Given the description of an element on the screen output the (x, y) to click on. 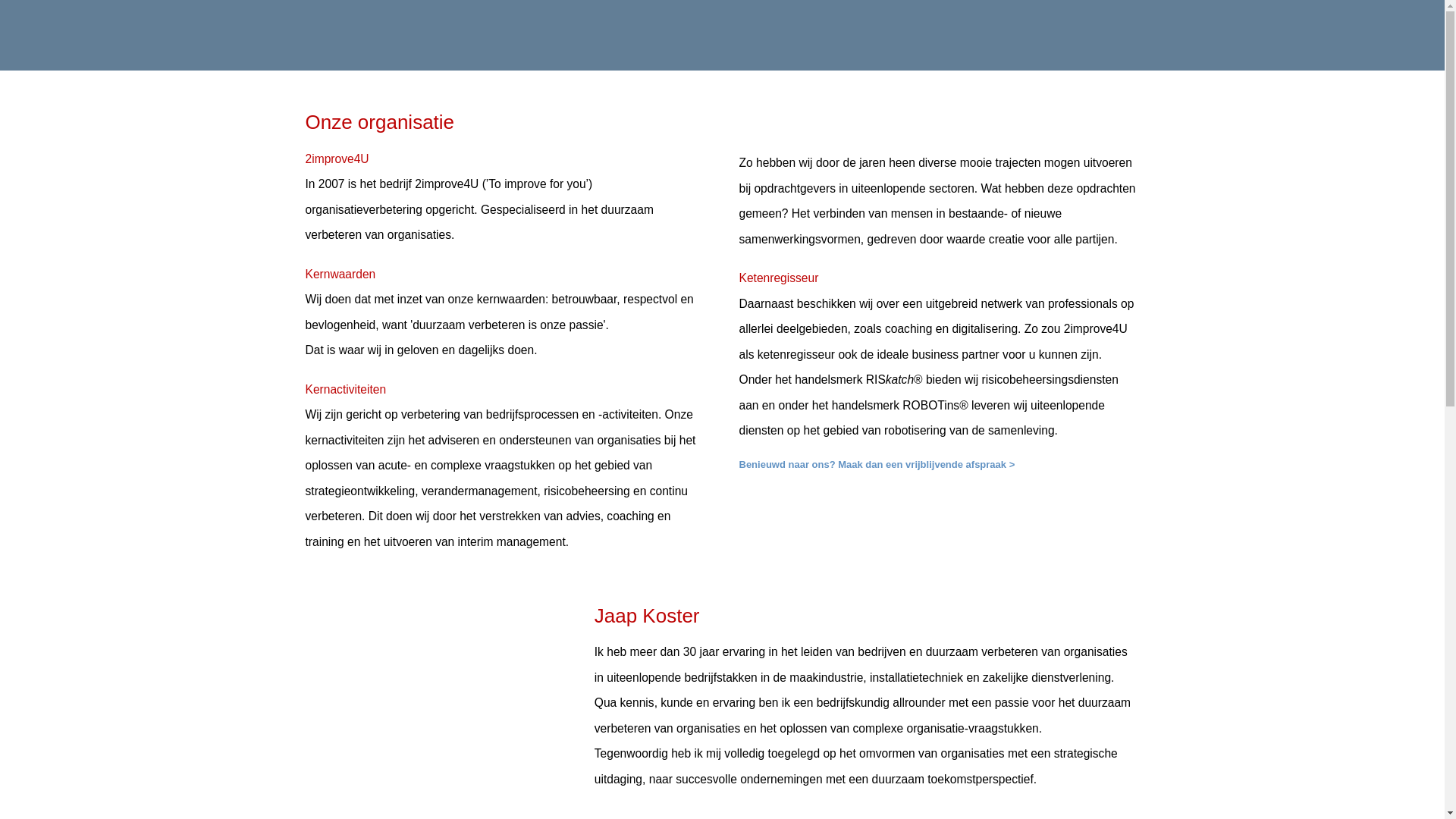
Benieuwd naar ons? Maak dan een vrijblijvende afspraak > Element type: text (876, 464)
